Given the description of an element on the screen output the (x, y) to click on. 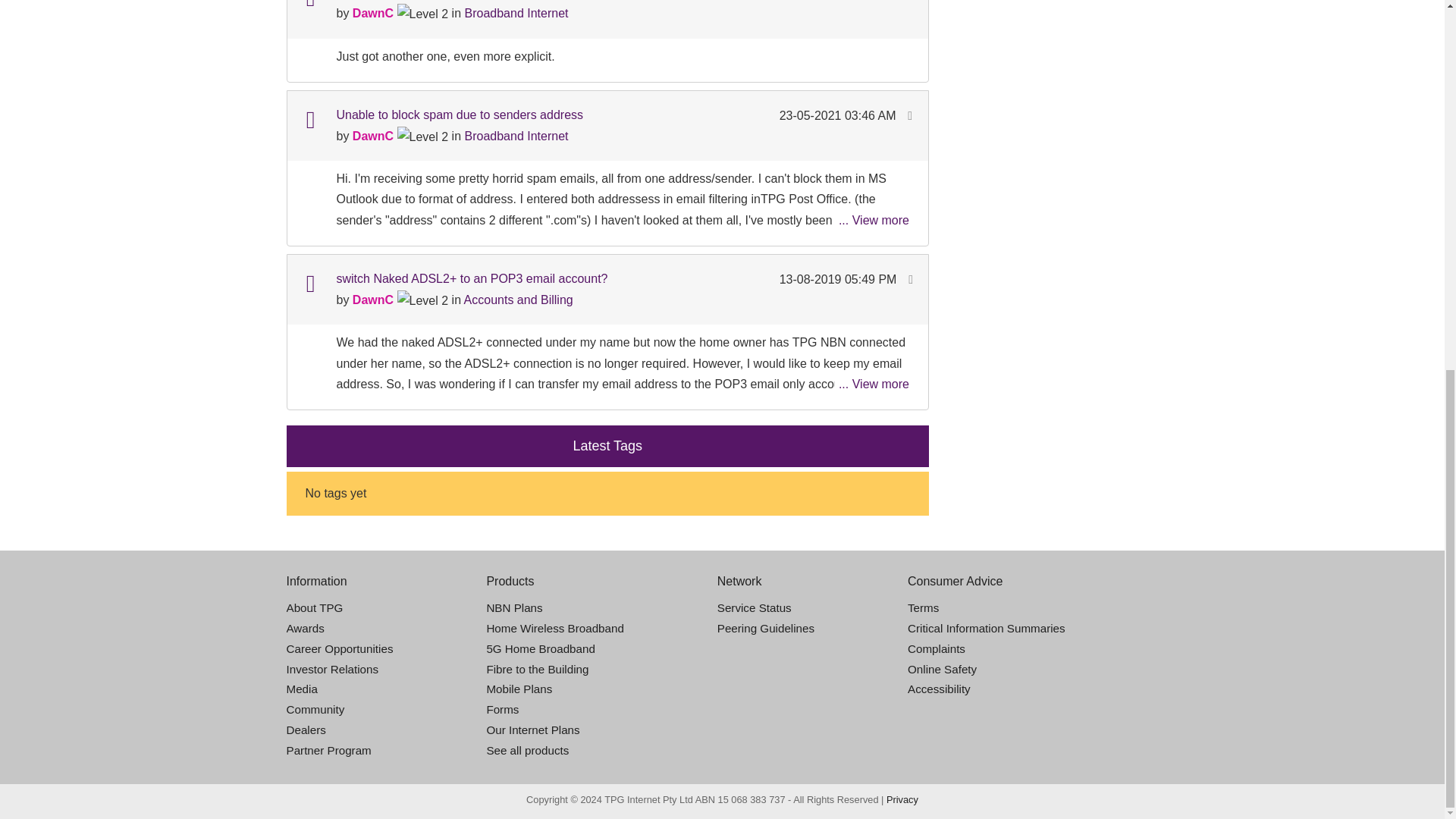
Forum (309, 283)
Level 2 (422, 14)
Level 2 (422, 136)
Forum (309, 119)
Posted on (838, 115)
Posted on (838, 2)
Level 2 (422, 300)
Forum (309, 6)
